Given the description of an element on the screen output the (x, y) to click on. 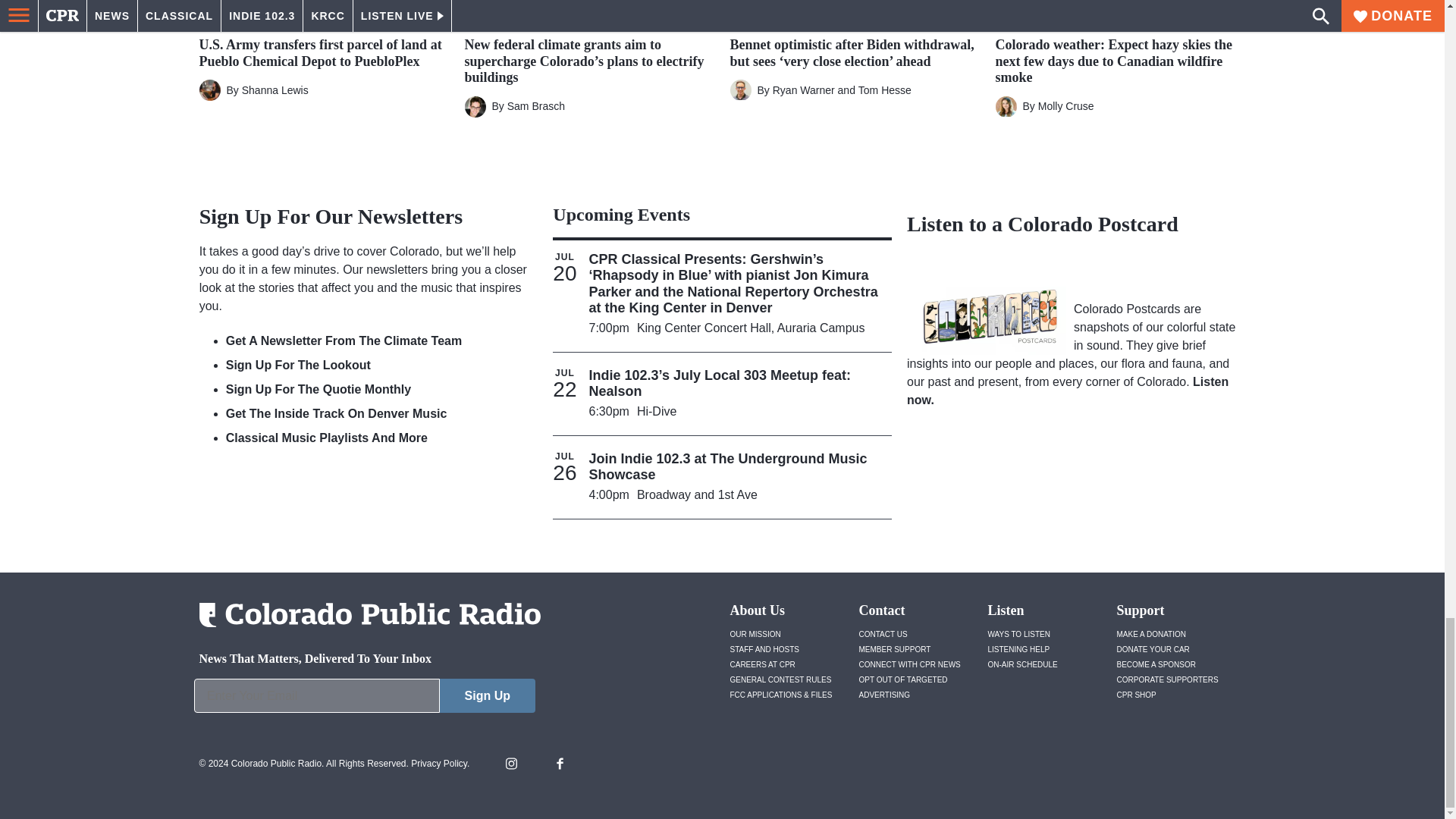
footer (364, 699)
